Given the description of an element on the screen output the (x, y) to click on. 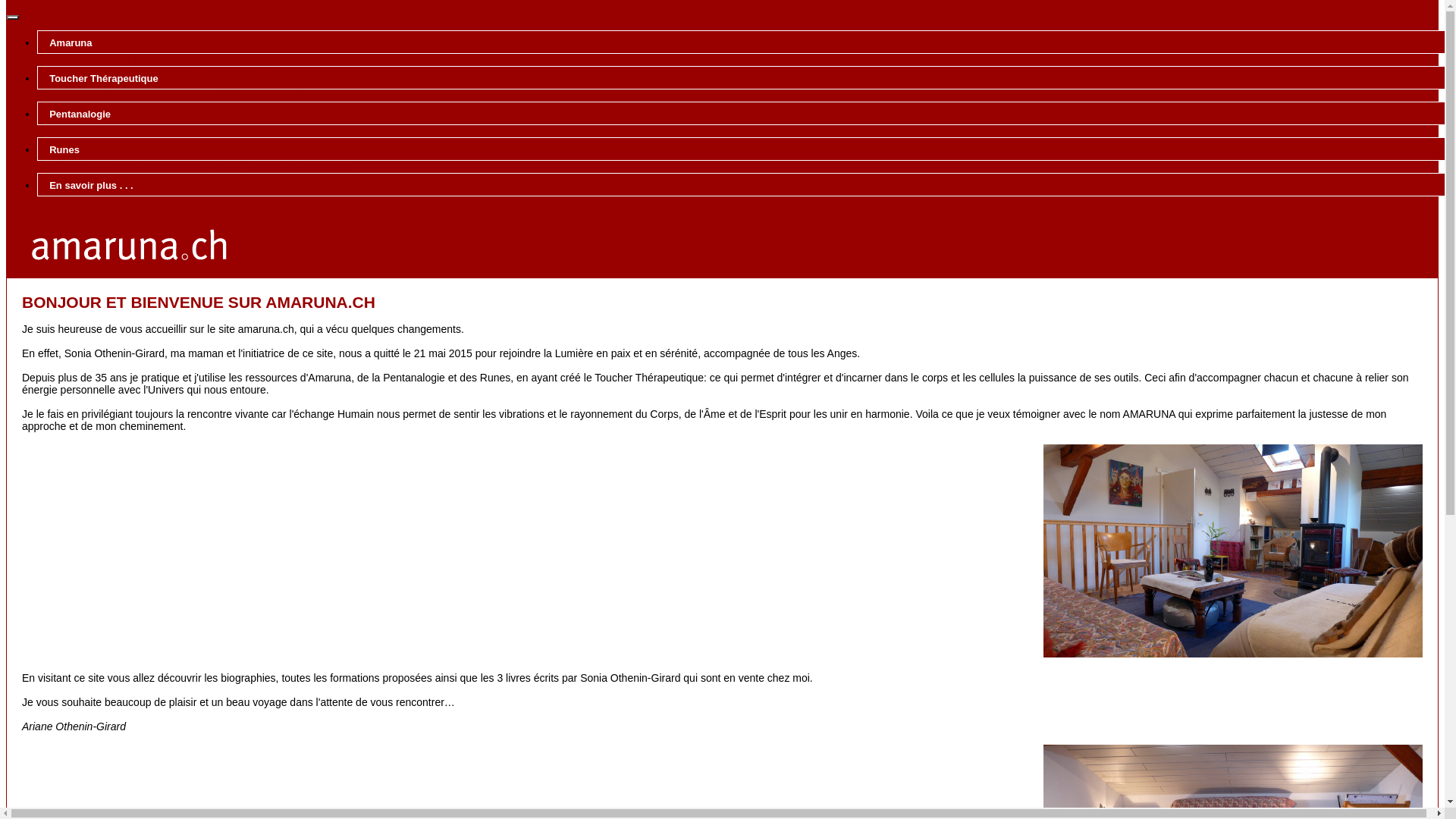
Consultations Element type: text (320, 166)
En savoir plus . . . Element type: text (744, 184)
Formation (Jeunes) Element type: text (251, 95)
Consultations Element type: text (327, 95)
En quelques mots Element type: text (76, 59)
En quelques mots Element type: text (76, 131)
Biographie d'Ariane Element type: text (244, 202)
Le livre Element type: text (134, 59)
En quelques mots Element type: text (76, 166)
Rune de la periode Element type: text (198, 166)
Consultations Element type: text (67, 202)
Le Livre Element type: text (136, 166)
Pentanalogie Element type: text (744, 113)
Formation (Adultes) Element type: text (162, 95)
Le livre Element type: text (134, 131)
Biographie de Ch. Gruber Element type: text (438, 202)
Formation Element type: text (175, 59)
Consultations Element type: text (230, 131)
Formation Element type: text (265, 166)
Runes Element type: text (744, 148)
Consultations Element type: text (230, 59)
Biographie de Sonia Element type: text (334, 202)
Amaruna Element type: text (744, 41)
Formation Element type: text (175, 131)
En quelques mots Element type: text (76, 95)
Contact Element type: text (514, 202)
Commander des livres Element type: text (149, 202)
